Given the description of an element on the screen output the (x, y) to click on. 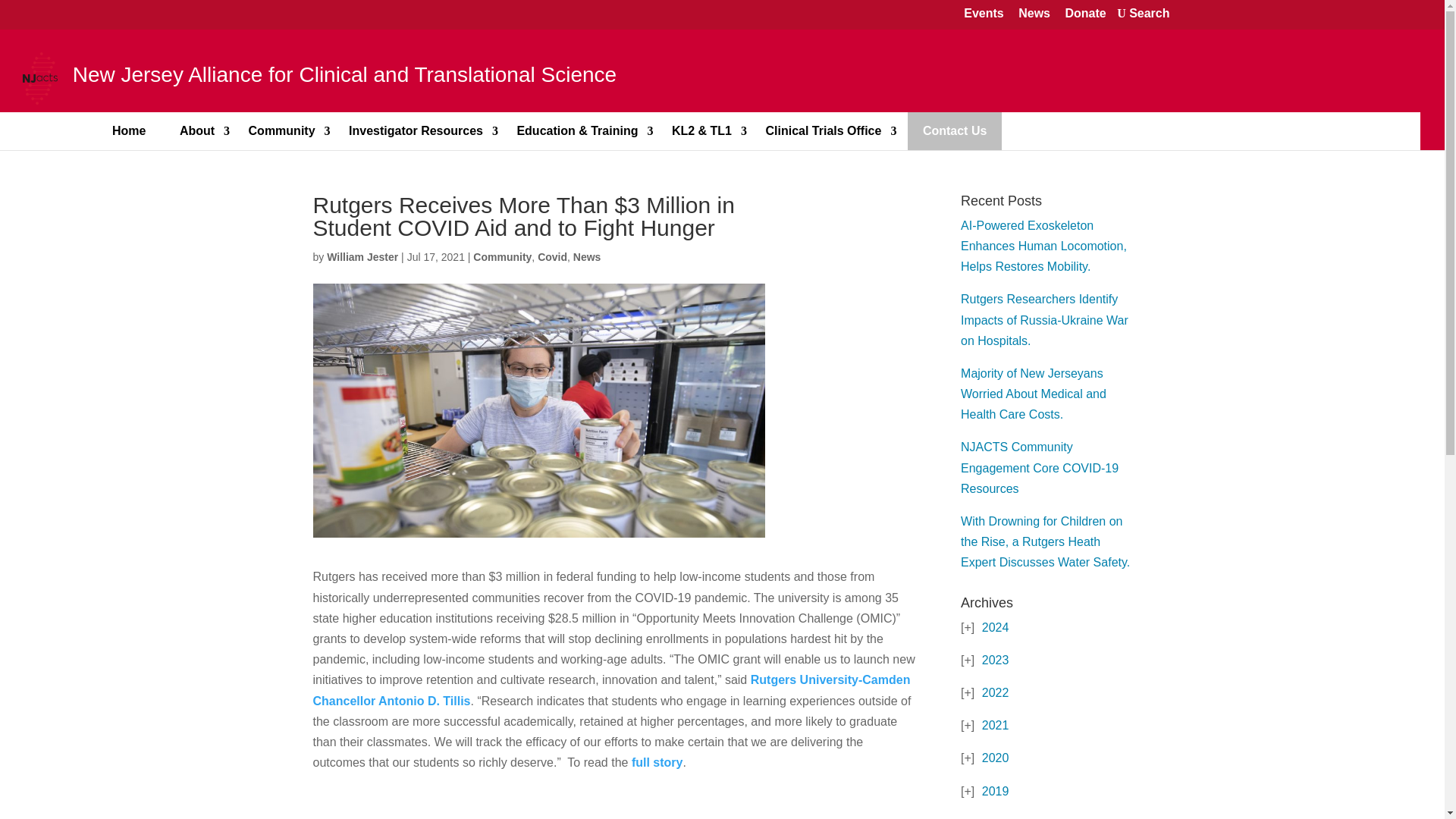
New Jersey Alliance for Clinical and Translational Science (325, 77)
Posts by William Jester (361, 256)
Events (983, 14)
Home (128, 130)
Search (1142, 13)
Community (281, 130)
About (197, 130)
Donate (1084, 14)
Investigator Resources (415, 130)
News (1033, 14)
